Given the description of an element on the screen output the (x, y) to click on. 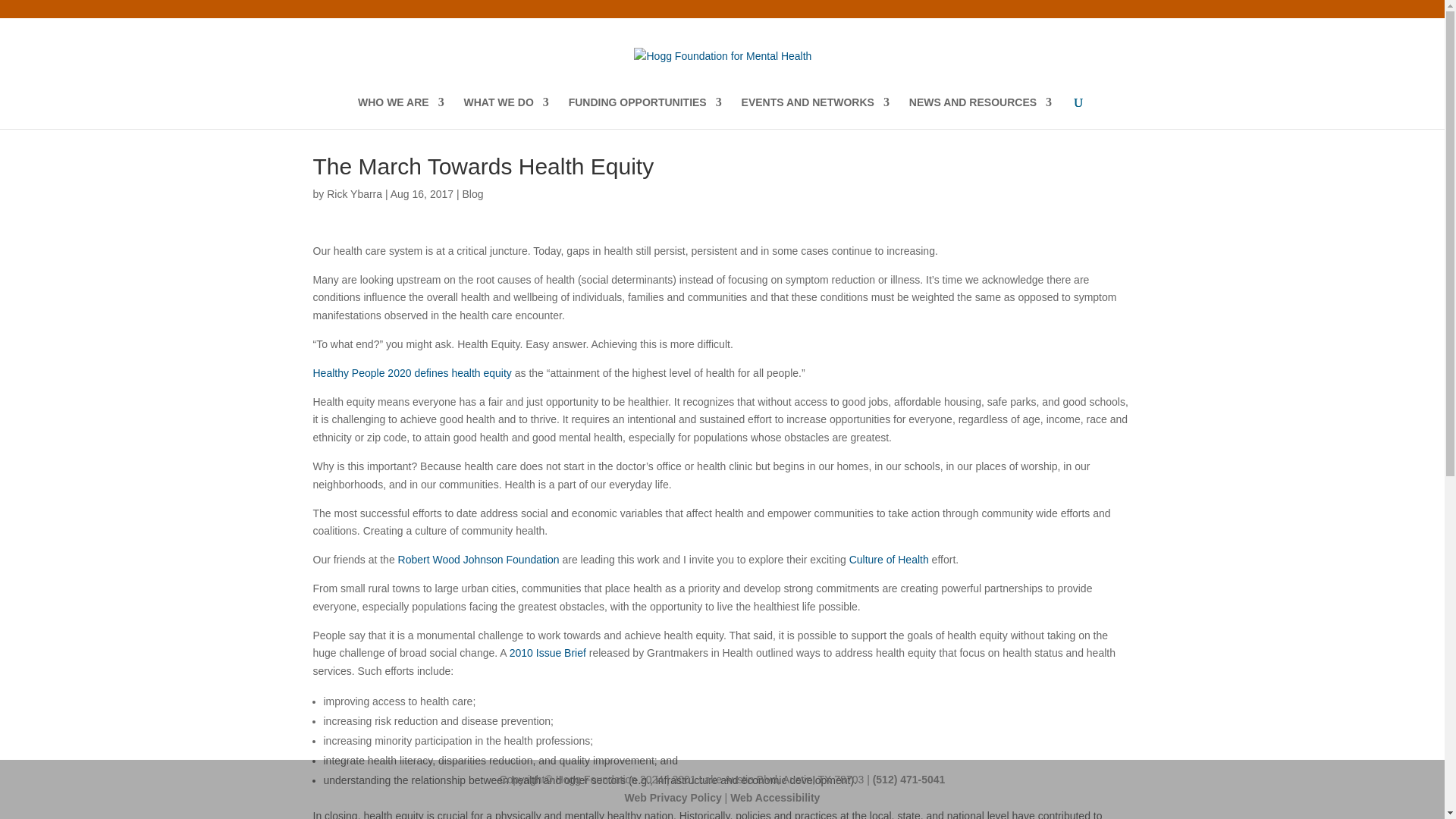
FUNDING OPPORTUNITIES (645, 112)
Culture of Health (888, 559)
Robert Wood Johnson Foundation (476, 559)
Rick Ybarra (353, 193)
NEWS AND RESOURCES (979, 112)
WHAT WE DO (506, 112)
EVENTS AND NETWORKS (815, 112)
Blog (472, 193)
2010 Issue Brief (549, 653)
The University of Texas at Austin (1088, 5)
